Given the description of an element on the screen output the (x, y) to click on. 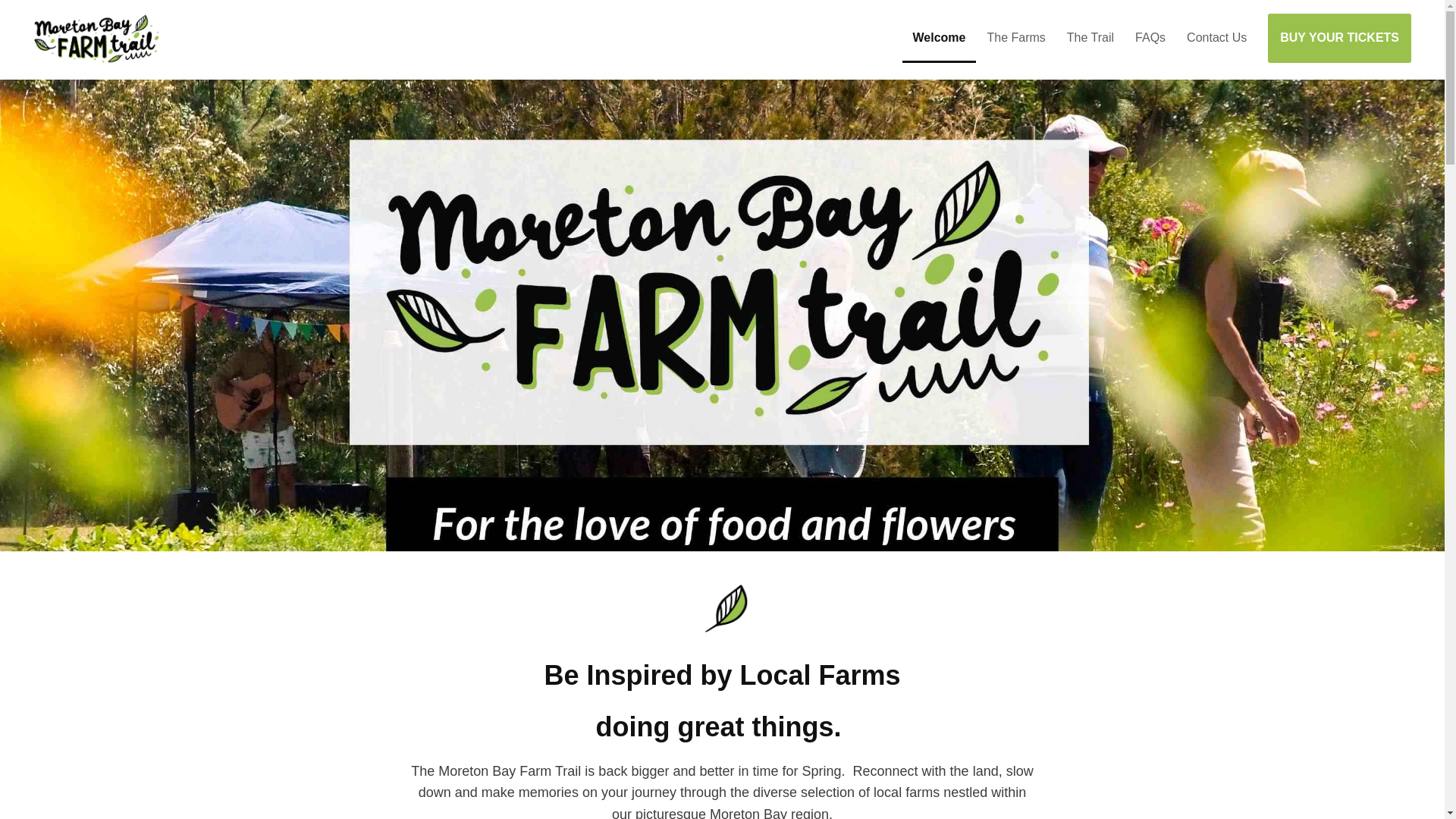
The Farms (1015, 31)
The Trail (1090, 31)
BUY YOUR TICKETS (1339, 38)
Contact Us (1216, 31)
